Given the description of an element on the screen output the (x, y) to click on. 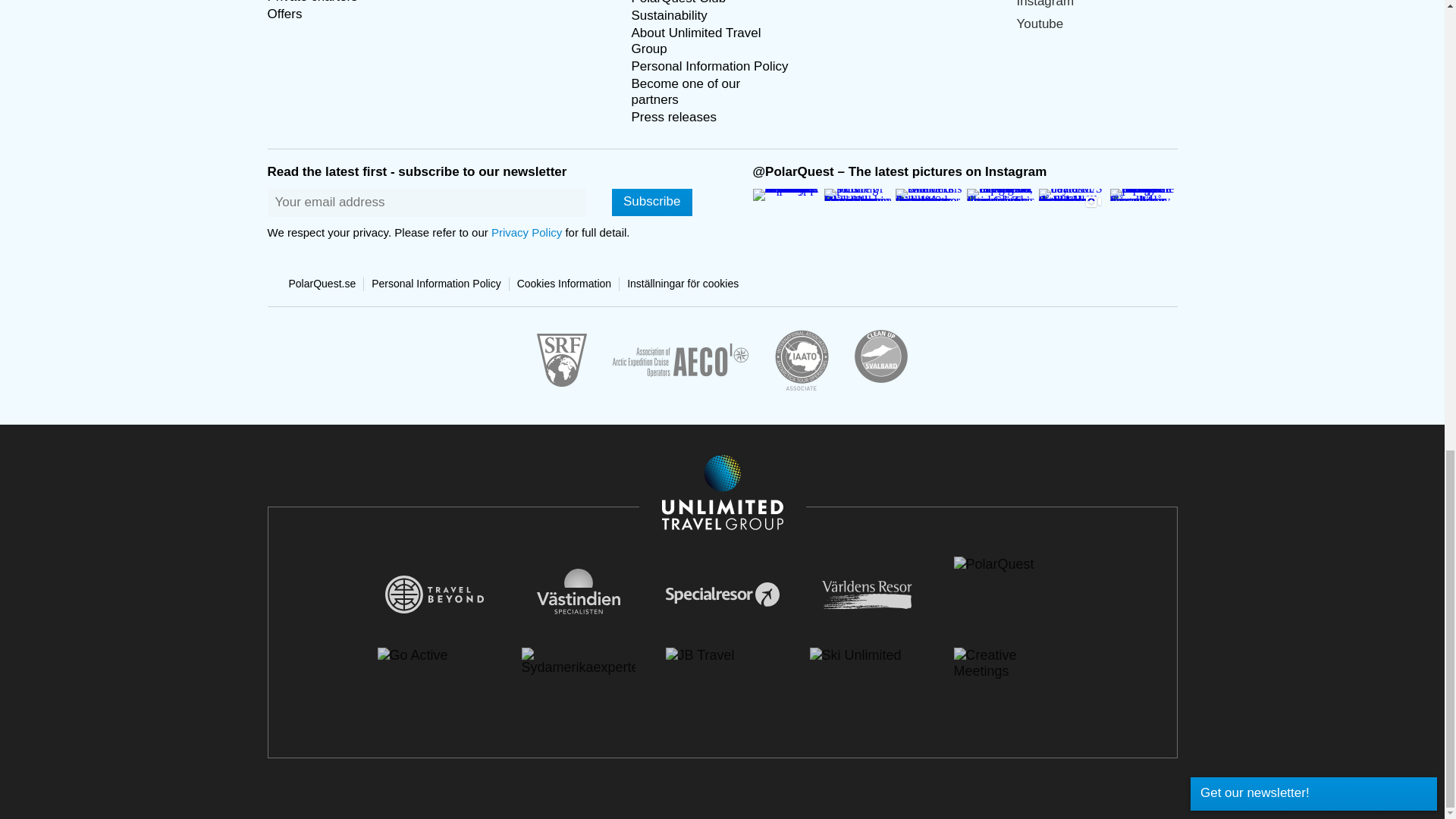
Private charters (311, 2)
Creative Meetings (1010, 663)
Offers (283, 13)
JB Travel (721, 655)
Travel Beyond (434, 594)
PolarQuest (1010, 564)
Unlimited Travel Group (722, 494)
Sydamerikaexperten (577, 661)
Go Active (434, 655)
Specialresor (721, 594)
Ski Unlimited (866, 655)
